Given the description of an element on the screen output the (x, y) to click on. 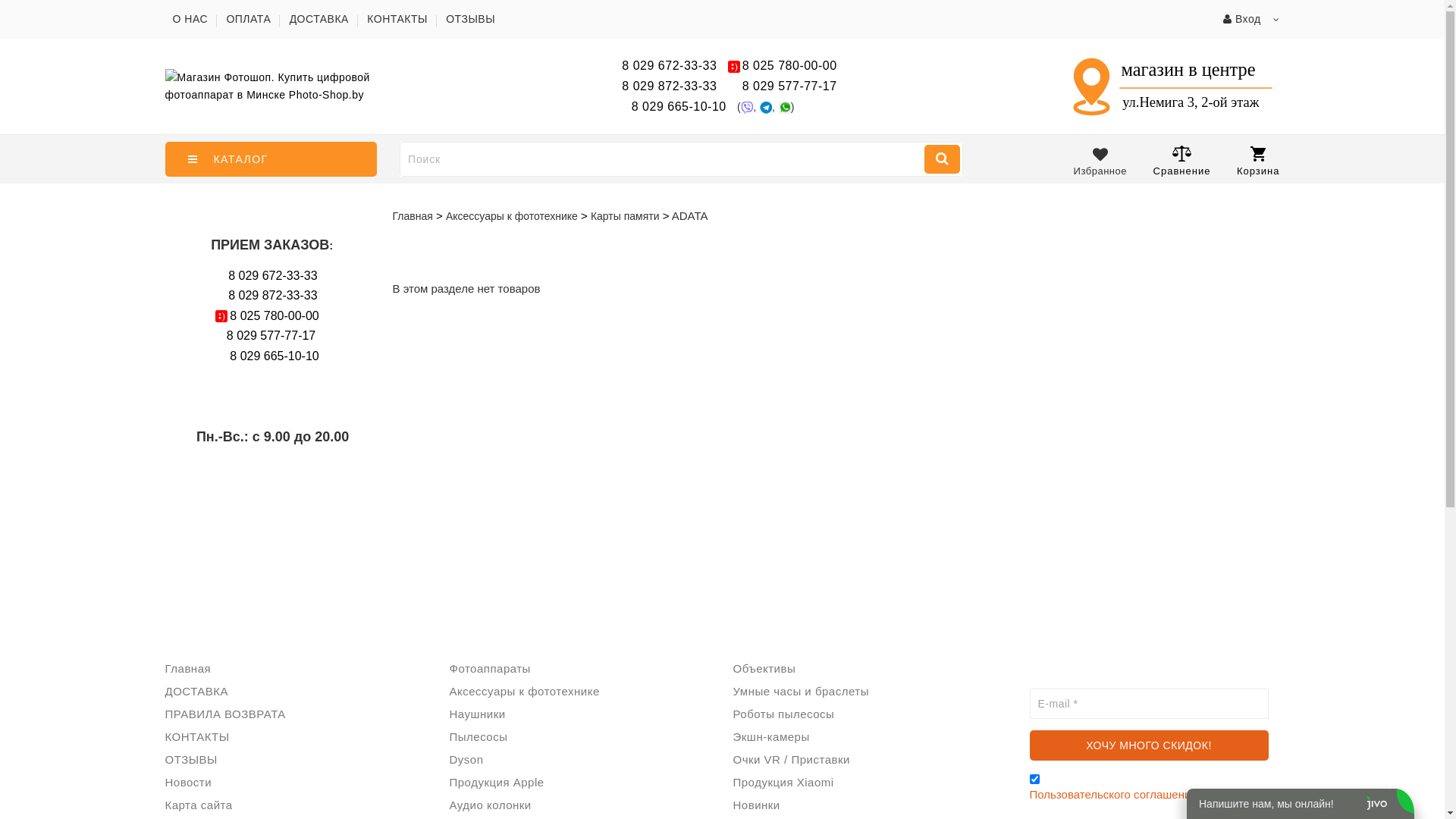
8 029 872-33-33 Element type: text (668, 85)
8 029 665-10-10 Element type: text (273, 355)
8 029 577-77-17 Element type: text (270, 335)
8 029 577-77-17 Element type: text (789, 85)
Dyson Element type: text (466, 760)
8 029 665-10-10  Element type: text (680, 106)
8 025 780-00-00 Element type: text (273, 316)
8 025 780-00-00 Element type: text (789, 65)
8 029 672-33-33 Element type: text (272, 275)
8 029 872-33-33 Element type: text (272, 294)
8 029 672-33-33 Element type: text (668, 65)
